Given the description of an element on the screen output the (x, y) to click on. 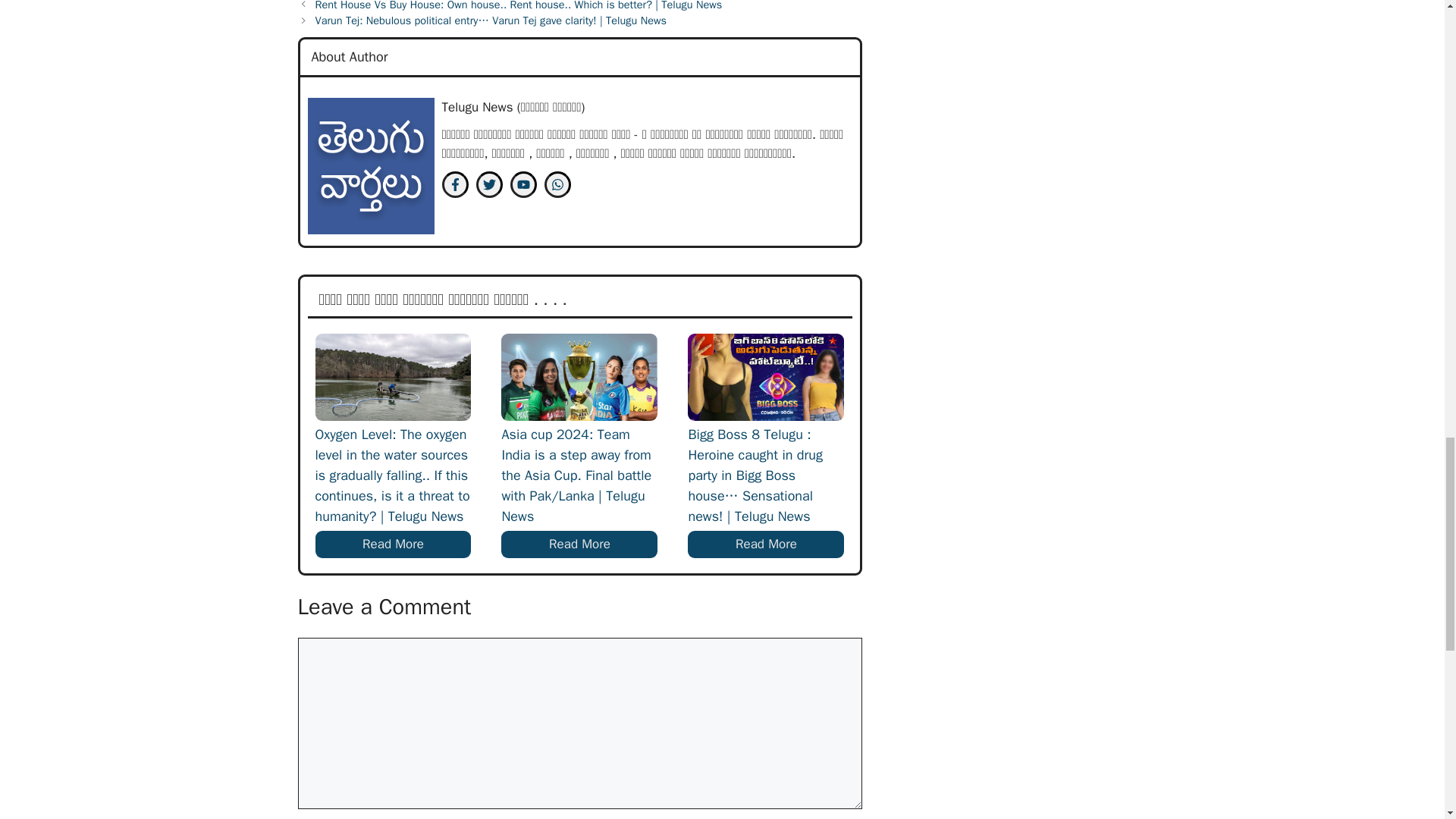
unnamed (370, 165)
